Given the description of an element on the screen output the (x, y) to click on. 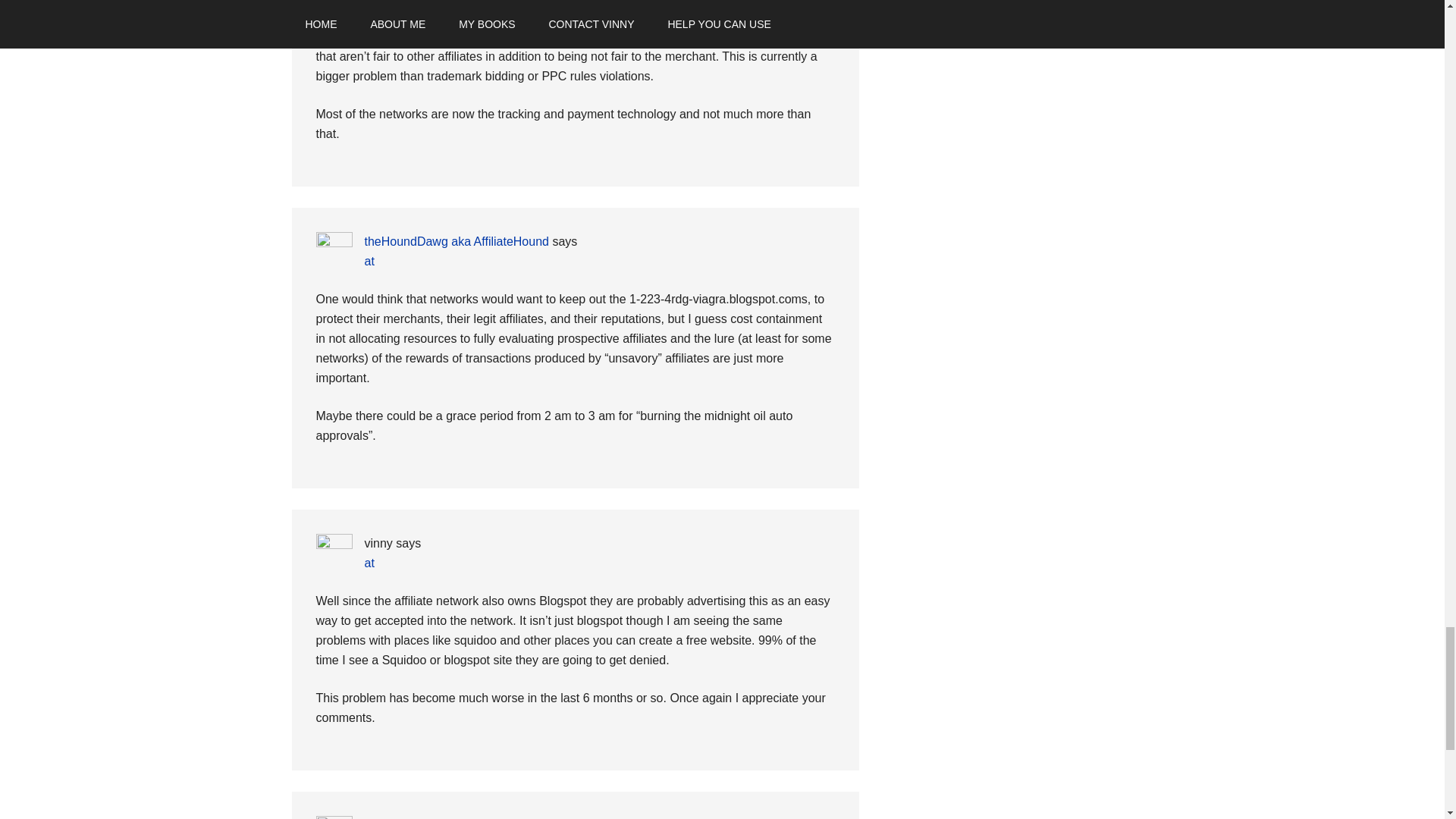
at (369, 260)
at (369, 562)
theHoundDawg aka AffiliateHound (456, 241)
